Given the description of an element on the screen output the (x, y) to click on. 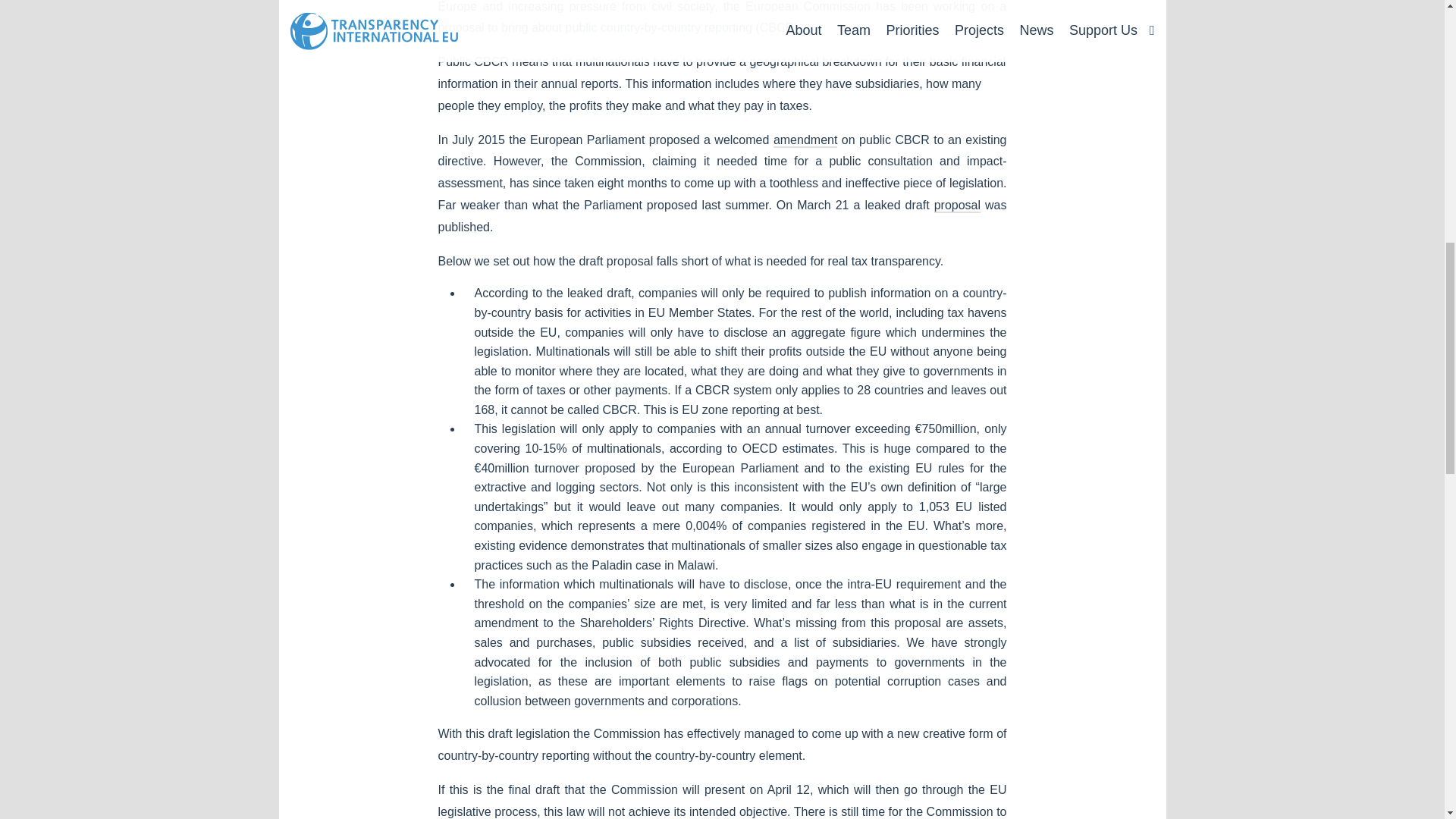
1,053 EU listed companies (740, 516)
CBCR (776, 28)
Paladin case in Malawi (652, 564)
OECD estimates (788, 448)
EU zone reporting (729, 409)
amendment (805, 140)
extractive and logging sectors (556, 486)
proposal (956, 205)
